Given the description of an element on the screen output the (x, y) to click on. 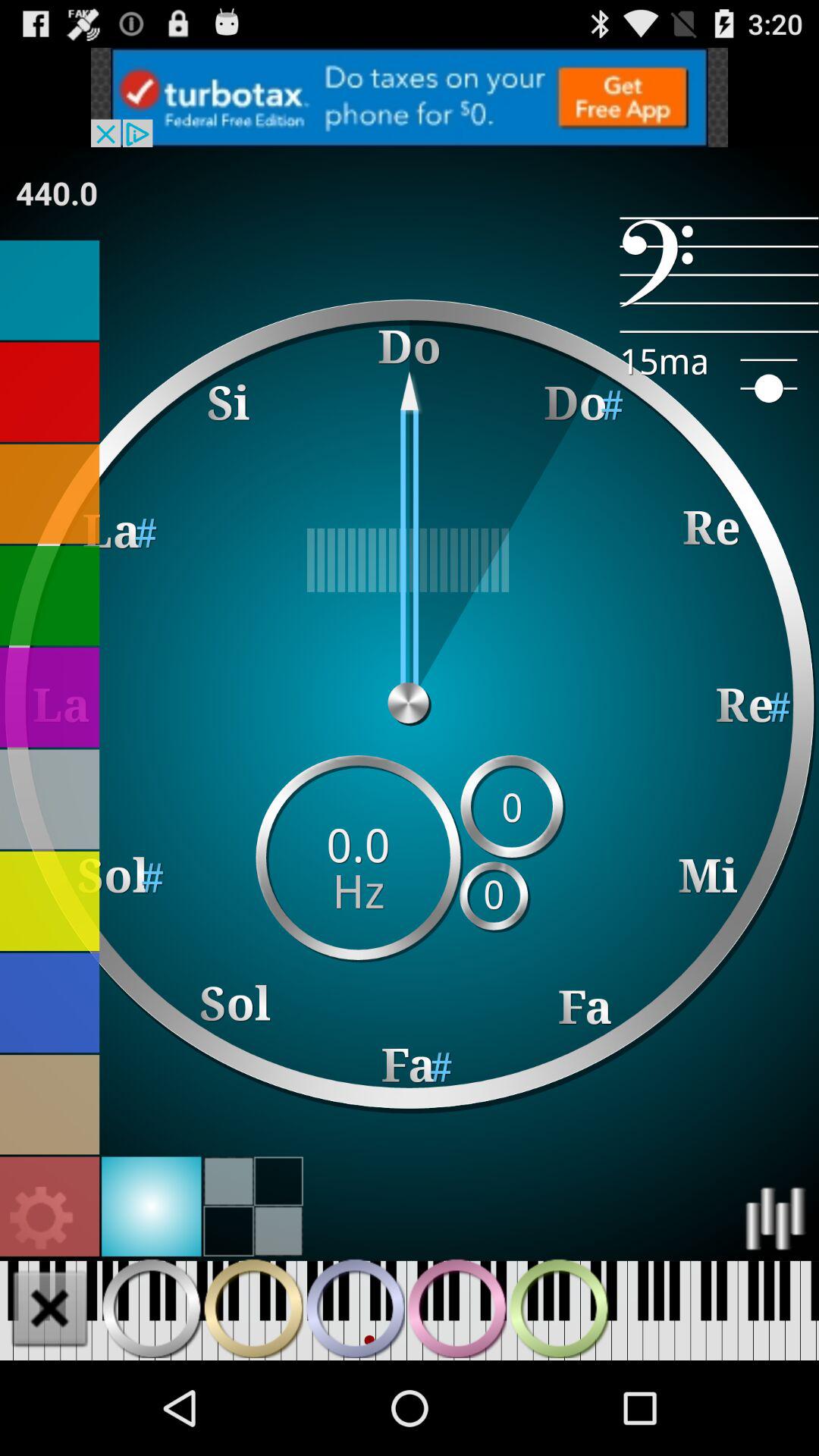
press to select tune (49, 697)
